Given the description of an element on the screen output the (x, y) to click on. 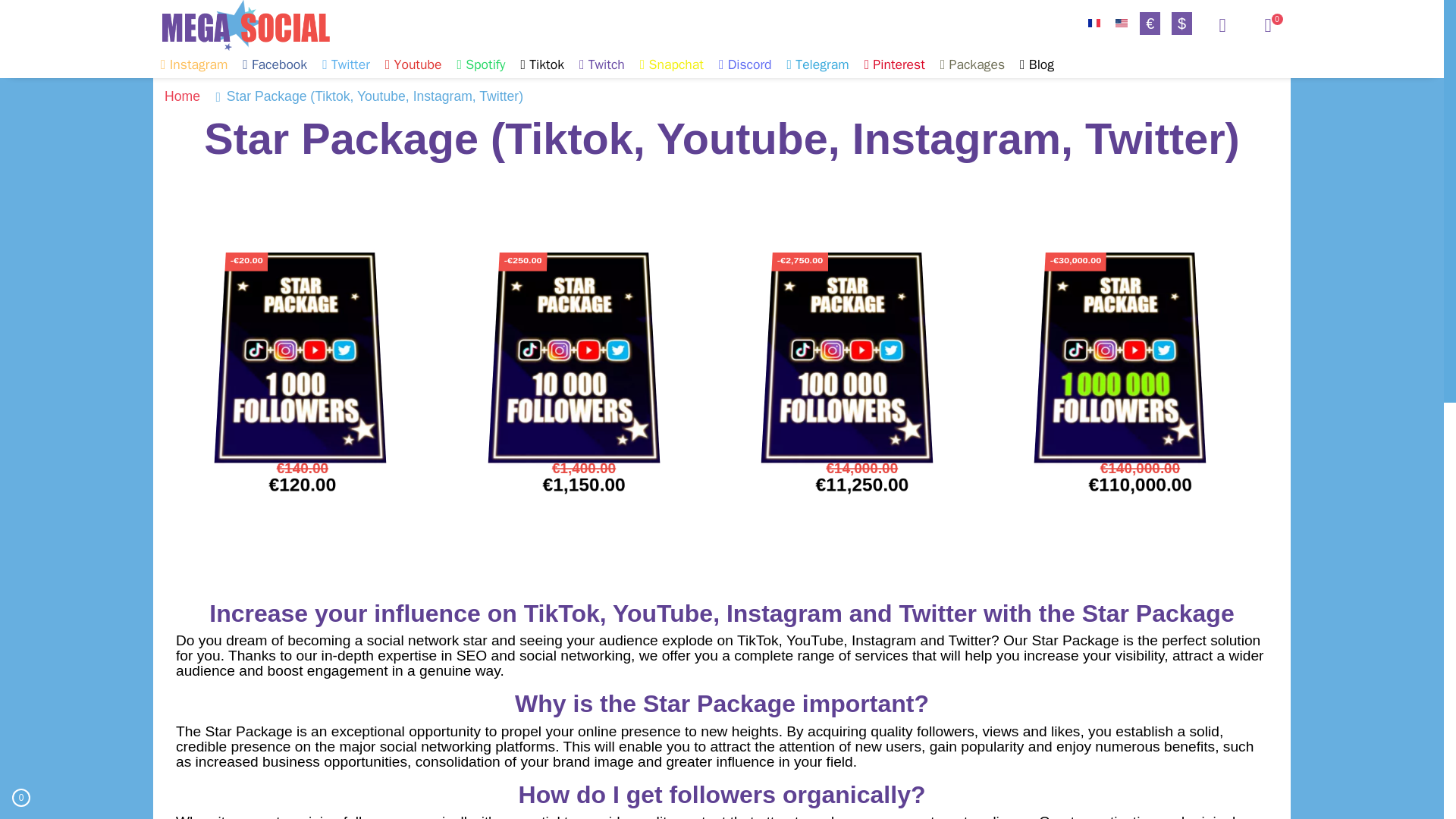
Twitter (345, 63)
Instagram (193, 63)
Spotify (480, 63)
Facebook (274, 63)
Youtube (413, 63)
